Given the description of an element on the screen output the (x, y) to click on. 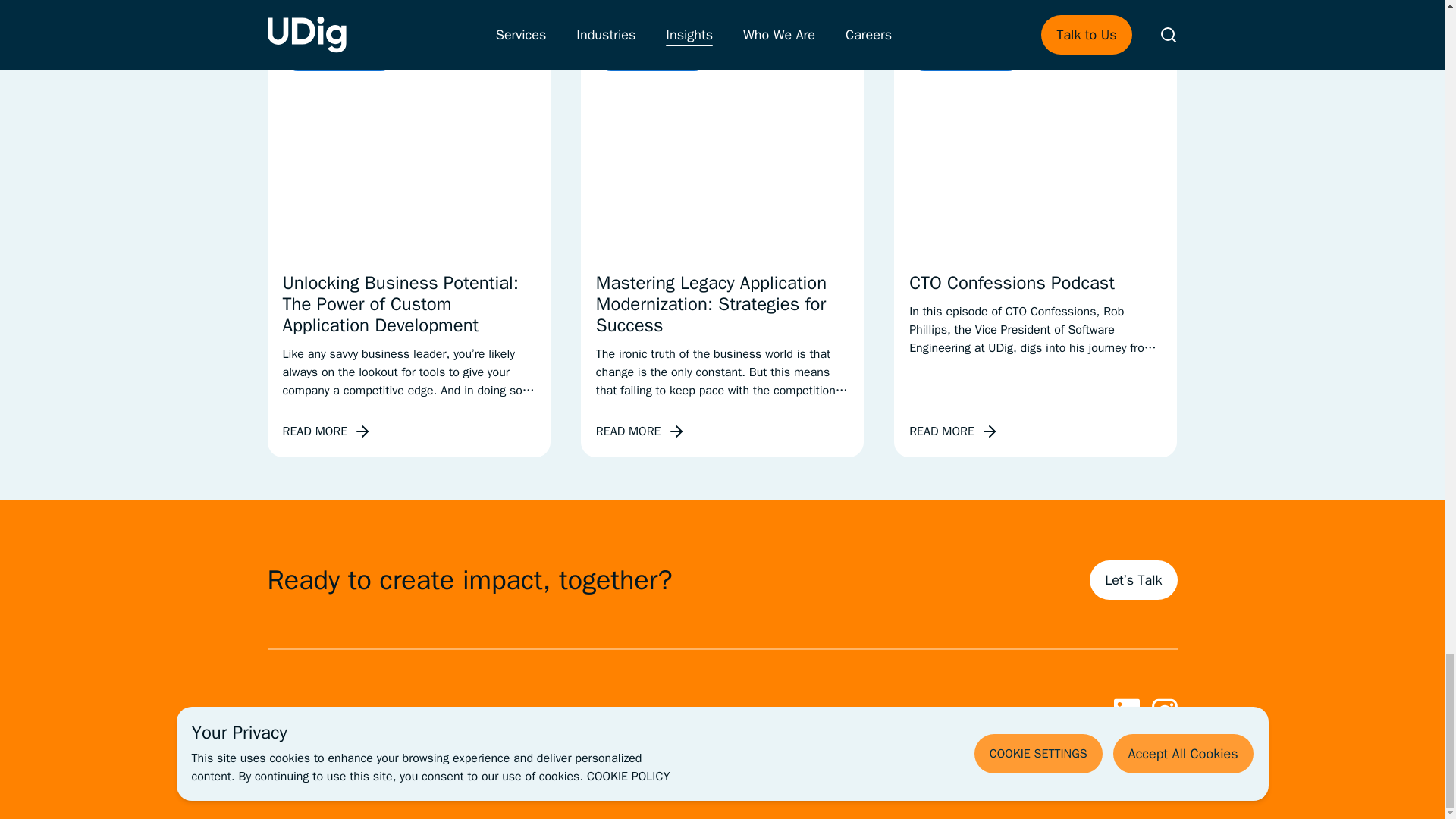
READ MORE (640, 431)
READ MORE (953, 431)
READ MORE (326, 431)
Digital Products (965, 55)
Digital Products (652, 55)
Digital Products (339, 55)
